Given the description of an element on the screen output the (x, y) to click on. 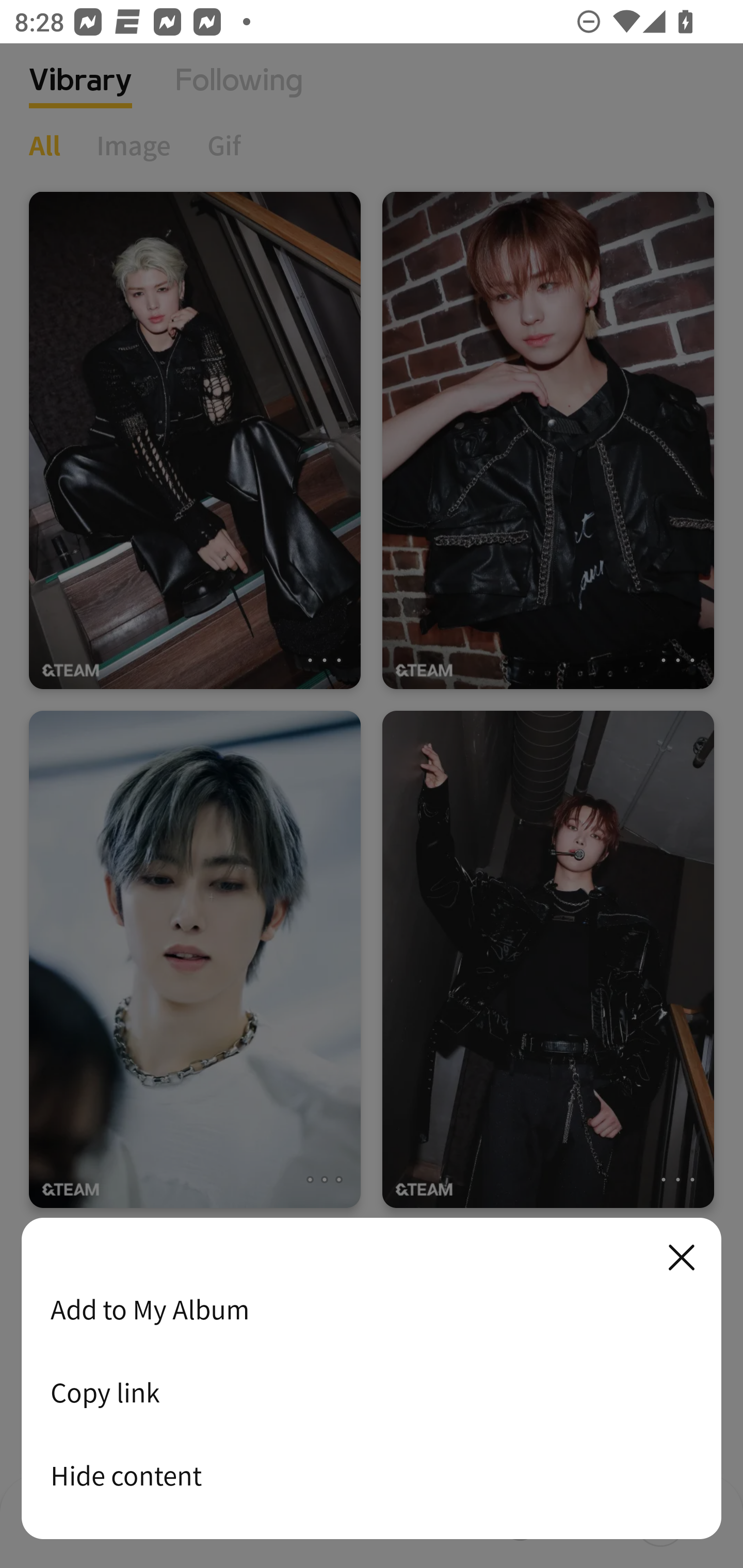
Add to My Album Copy link Hide content (371, 1378)
Add to My Album (371, 1308)
Copy link (371, 1391)
Hide content (371, 1474)
